Given the description of an element on the screen output the (x, y) to click on. 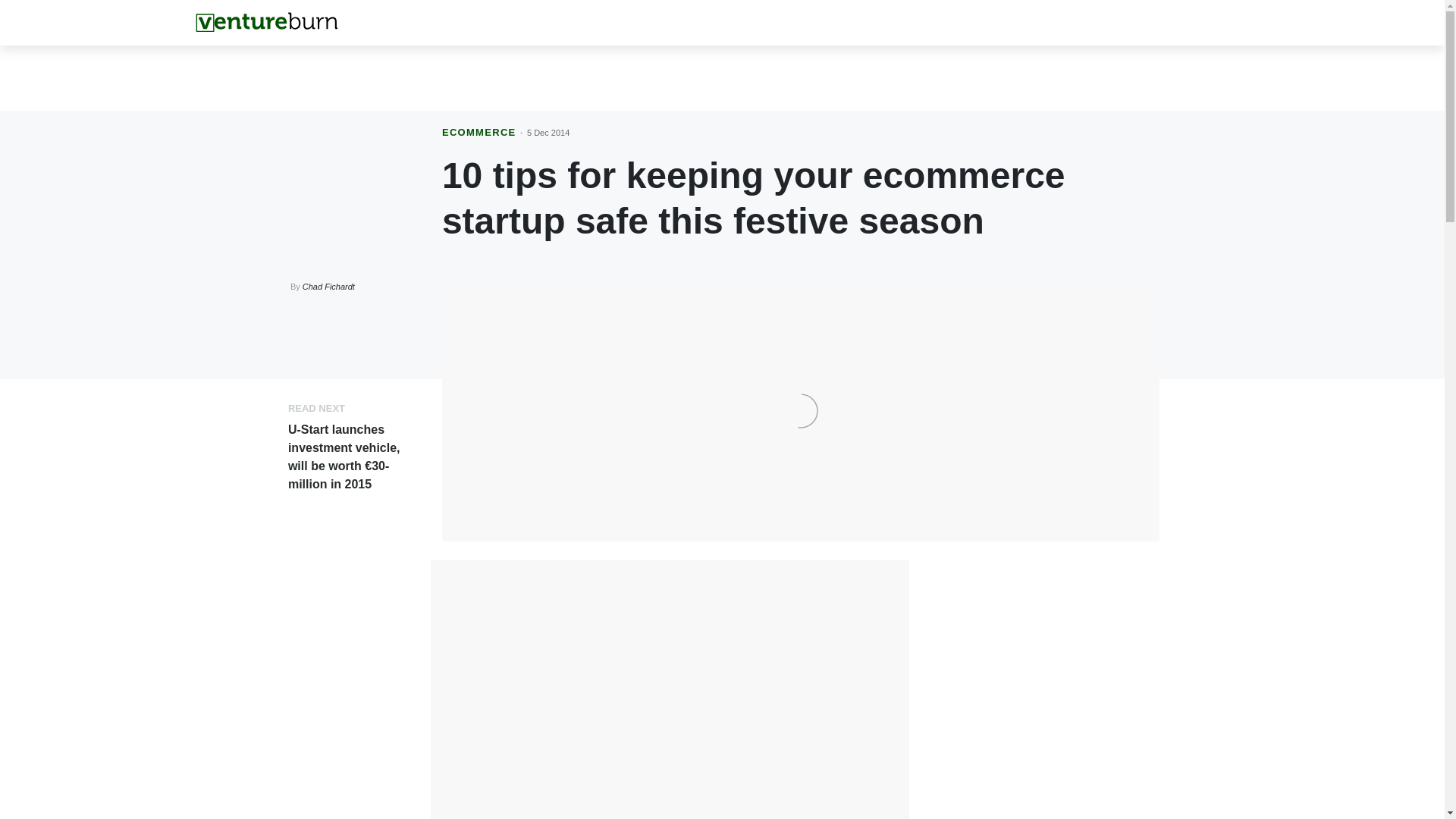
Chad Fichardt (328, 286)
5 Dec 2014 (548, 132)
ECOMMERCE (479, 132)
Home (266, 21)
